Given the description of an element on the screen output the (x, y) to click on. 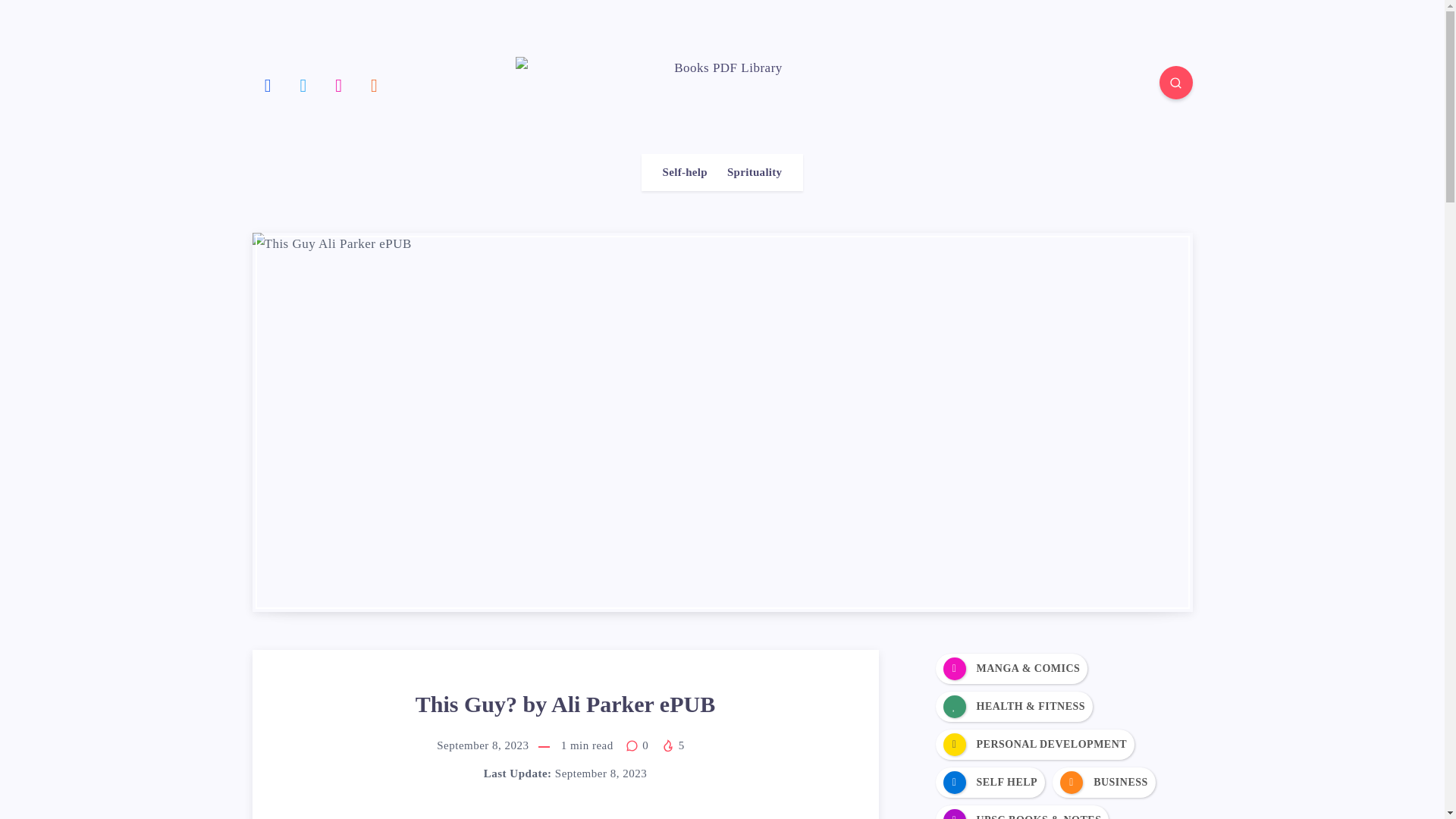
0 (637, 745)
0 Comments (637, 745)
Sprituality (753, 172)
Self-help (684, 172)
5 Views (672, 745)
